Given the description of an element on the screen output the (x, y) to click on. 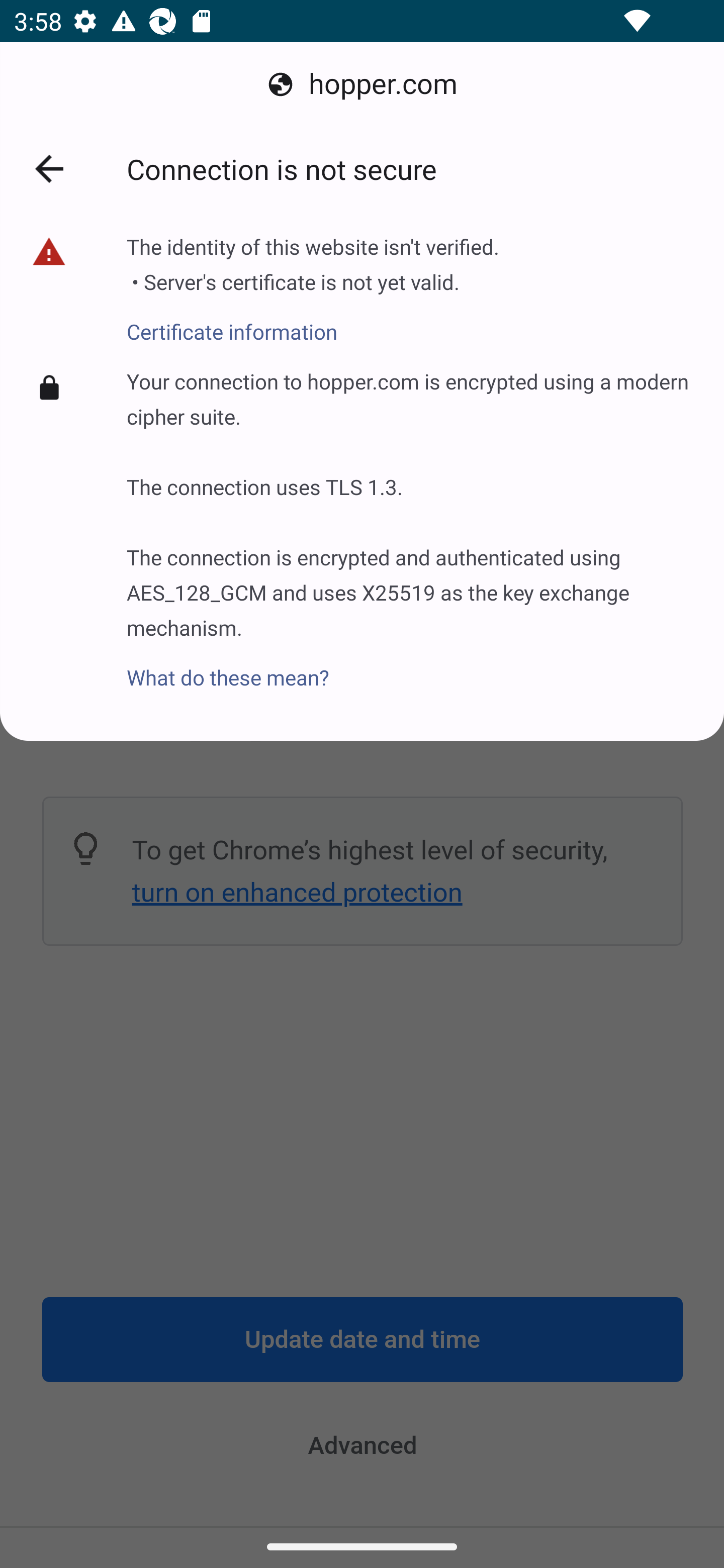
hopper.com (362, 84)
Back (49, 169)
Certificate information (312, 321)
What do these mean? (410, 666)
